Given the description of an element on the screen output the (x, y) to click on. 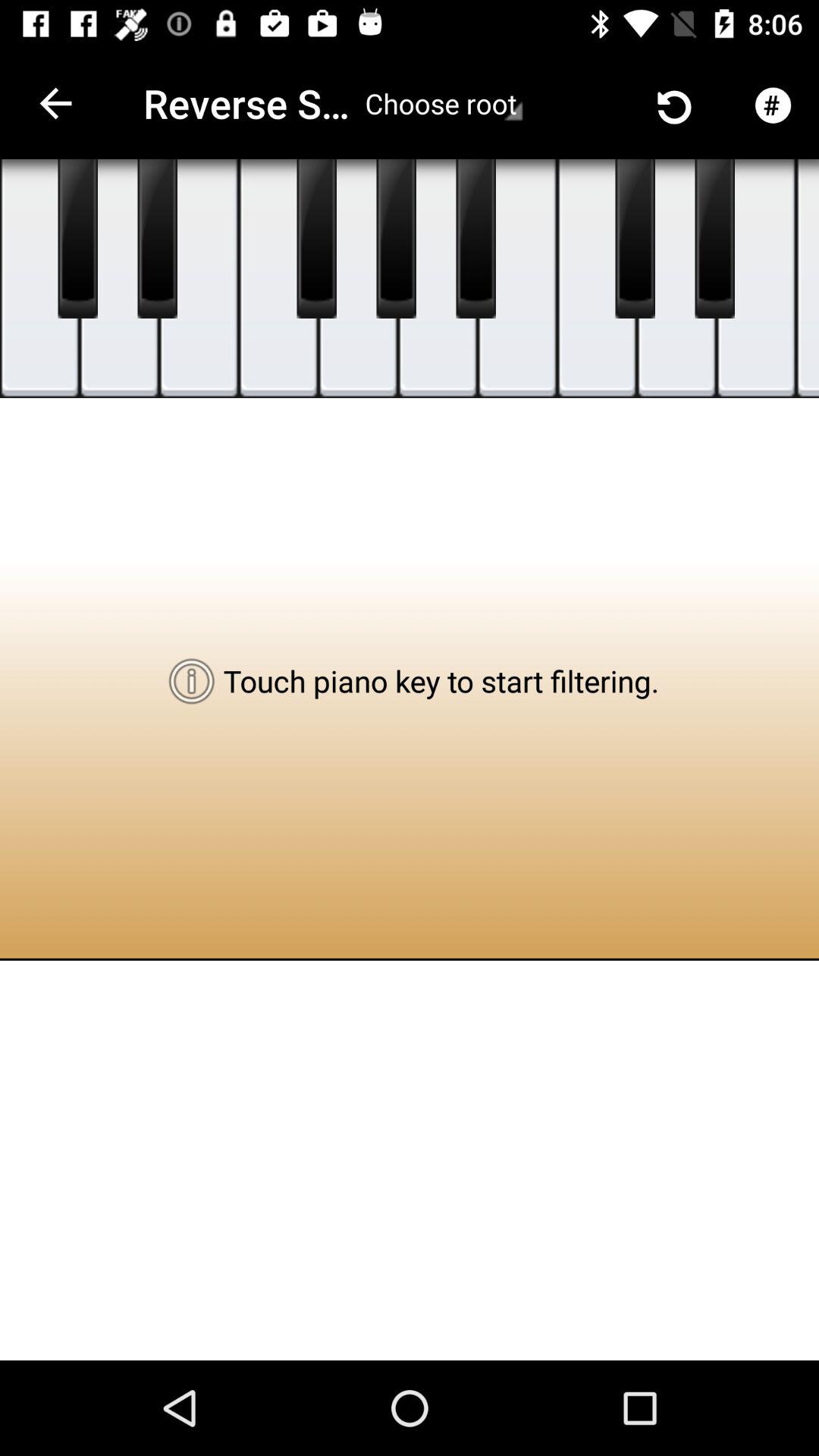
click icon above touch piano key item (475, 238)
